Given the description of an element on the screen output the (x, y) to click on. 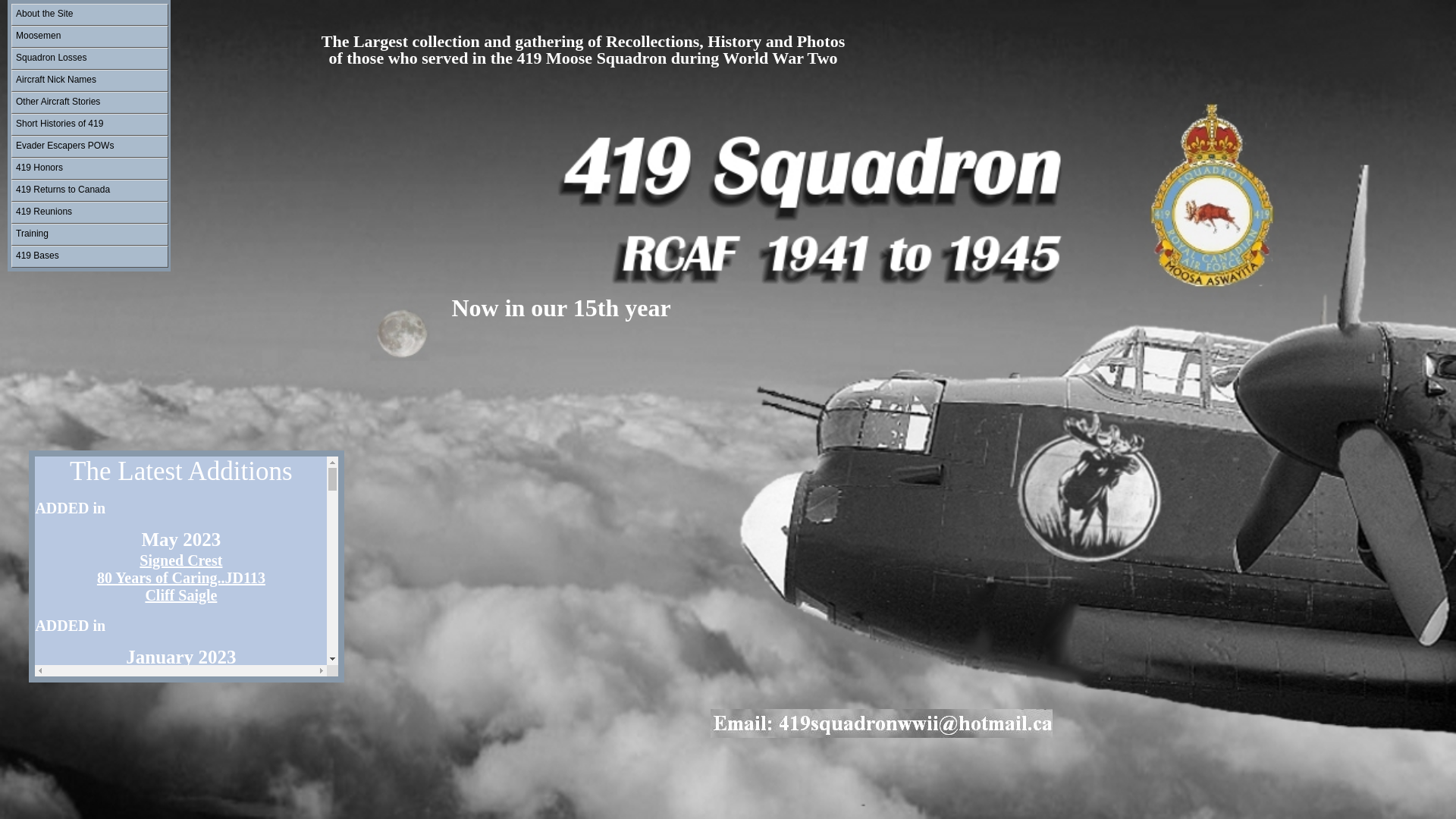
80 Years of Caring..JD113 Element type: text (180, 577)
419 Returns to Canada Element type: text (89, 190)
419 Bases Element type: text (89, 256)
P/O Edgar Hoe Element type: text (180, 678)
Aircraft Nick Names Element type: text (89, 80)
Signed Crest Element type: text (180, 560)
P/O Henry G. Anderson Element type: text (180, 761)
419 Squadron in Canada's Weekly Element type: text (180, 778)
Training Element type: text (89, 234)
Cliff Saigle Element type: text (180, 595)
About the Site Element type: text (89, 14)
Short Histories of 419 Element type: text (89, 124)
Evader Escapers POWs Element type: text (89, 146)
Other Aircraft Stories Element type: text (89, 102)
Moosemen Element type: text (89, 36)
419 Honors Element type: text (89, 168)
419 Reunions Element type: text (89, 212)
Squadron Losses Element type: text (89, 58)
